Given the description of an element on the screen output the (x, y) to click on. 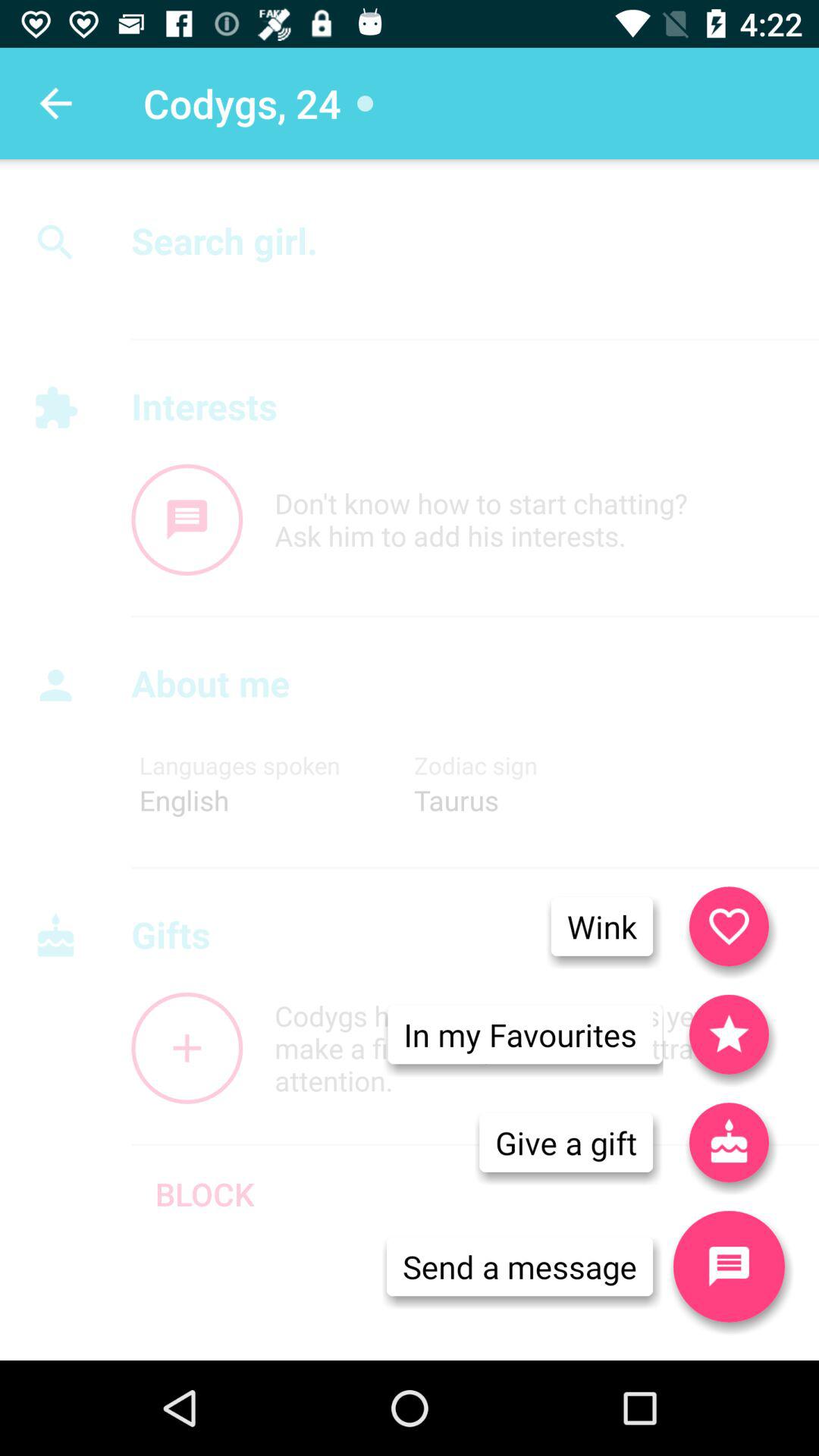
select icon below give a gift item (519, 1266)
